Given the description of an element on the screen output the (x, y) to click on. 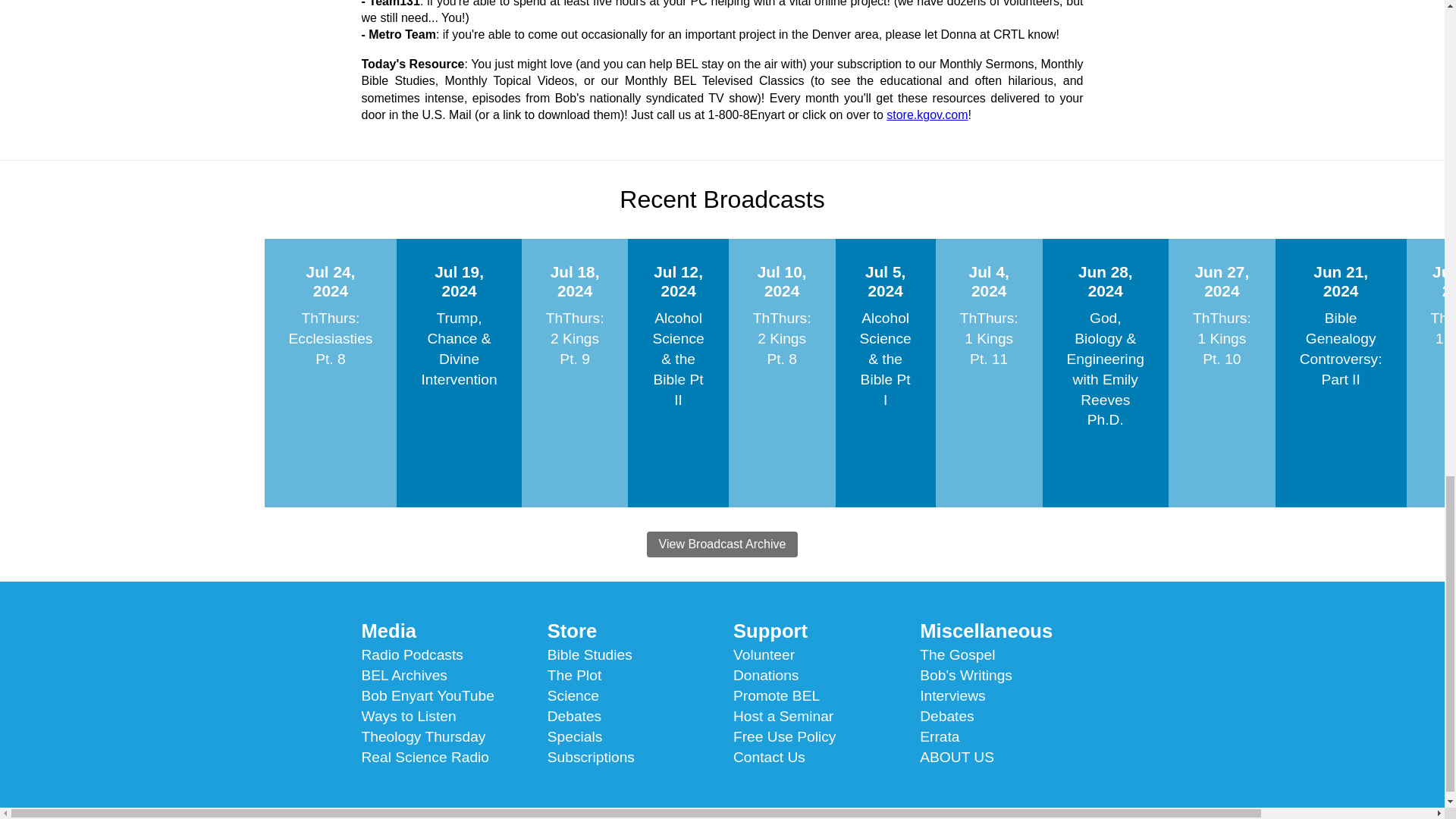
ThThurs: Ecclesiasties Pt. 8 (330, 338)
store.kgov.com (927, 114)
Bob shares the Gospel of Jesus Christ (957, 654)
ThThurs: 2 Kings Pt. 9 (575, 338)
